Given the description of an element on the screen output the (x, y) to click on. 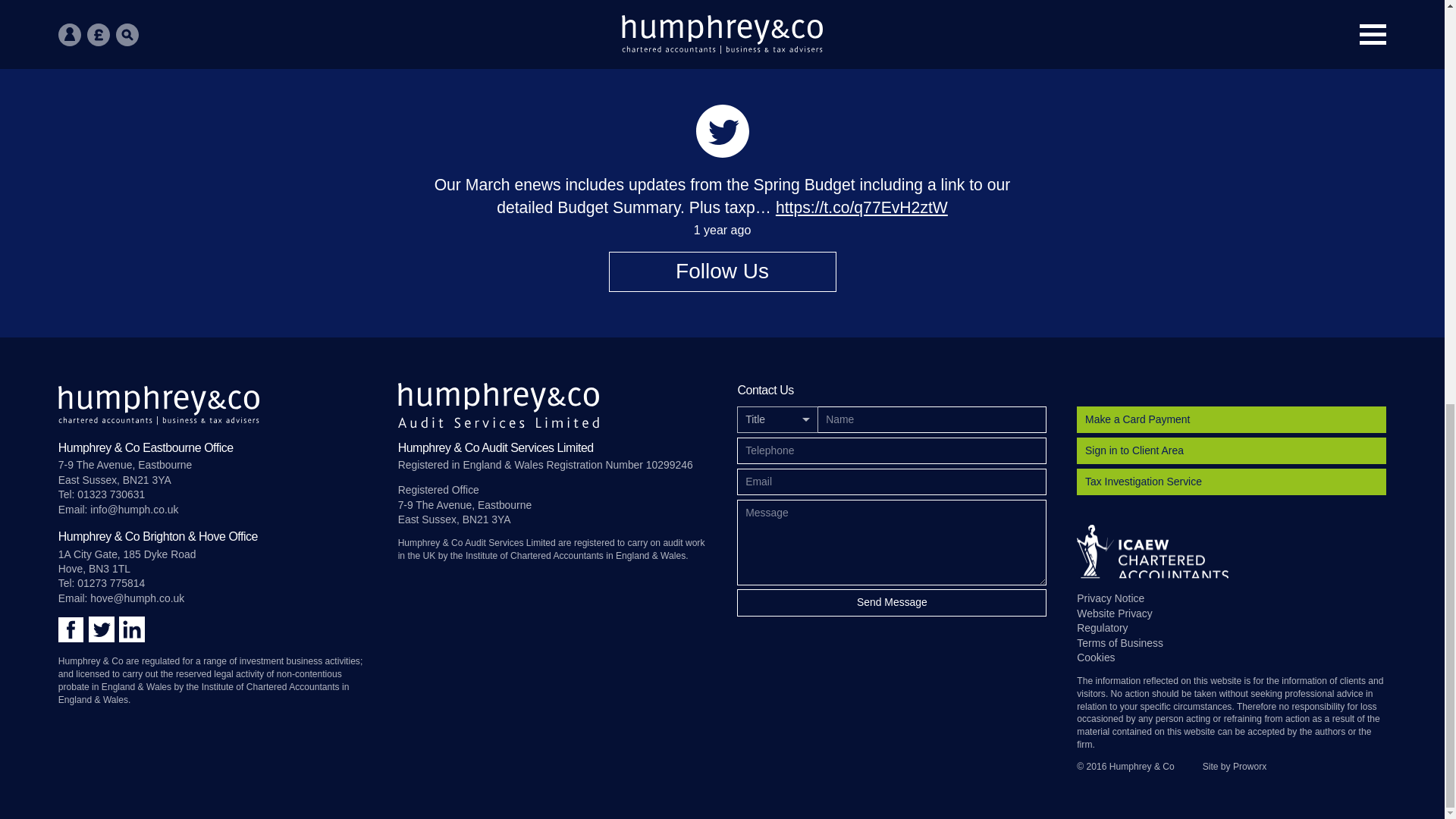
Twitter (100, 628)
Send Message (891, 601)
01323 730631 (110, 494)
LinkedIn (131, 628)
Make a Card Payment (1231, 419)
Follow Us (721, 271)
Facebook (70, 628)
01273 775814 (110, 582)
